Given the description of an element on the screen output the (x, y) to click on. 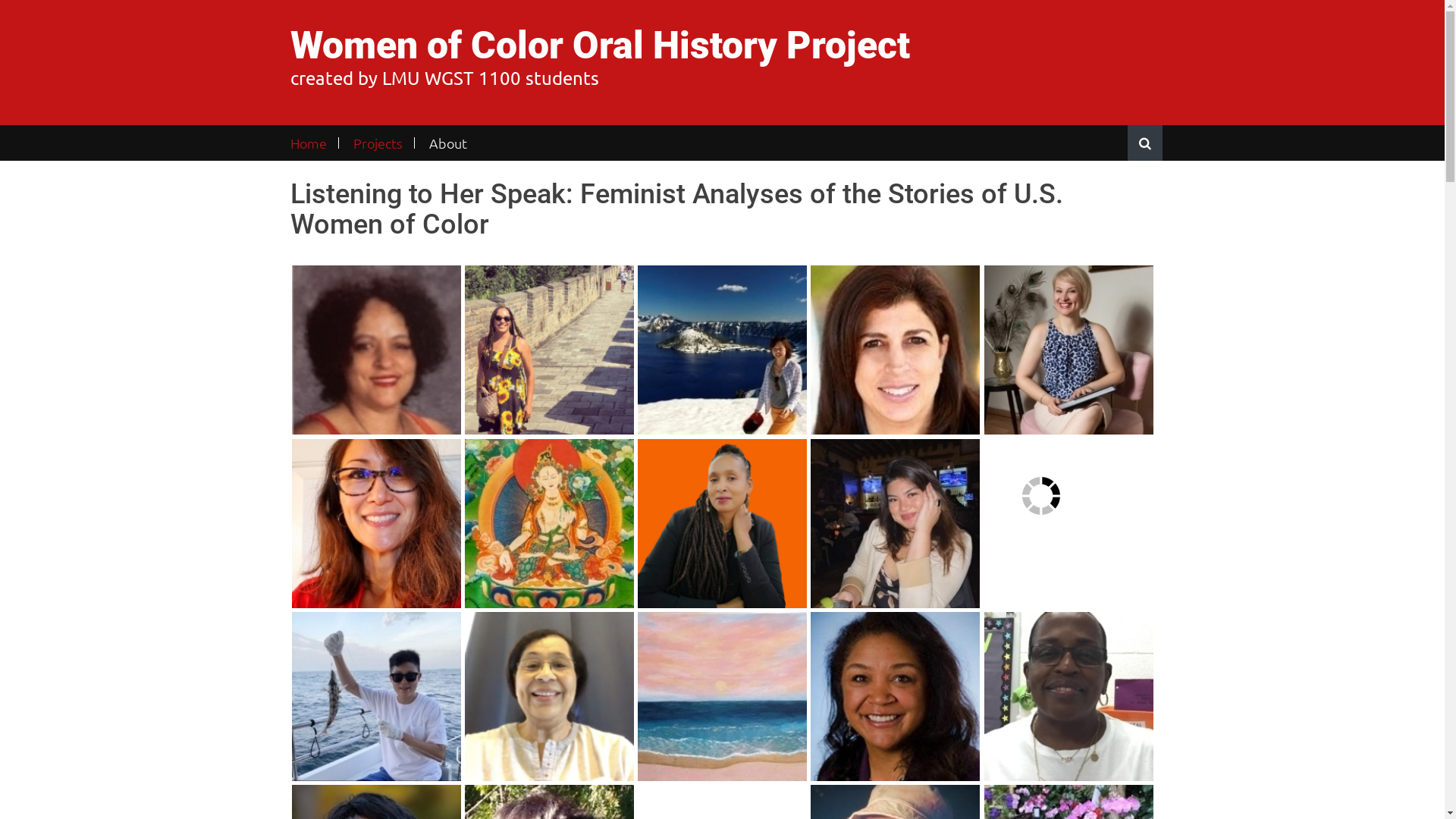
Emily&#039;s Interview with Izzy Element type: hover (894, 523)
About Element type: text (447, 142)
Paige&#039;s Interview with Karen Element type: hover (548, 523)
Projects Element type: text (377, 142)
Devon&#039;s Interview with Natalie Elizabeth Element type: hover (548, 349)
Nathan&#039;s Interview with Kerri Element type: hover (548, 696)
Maddie&#039;s Interview with Erica Thomson Element type: hover (375, 349)
Home Element type: text (313, 142)
Adelle&#039;s Interview with Jojo  Element type: hover (375, 696)
Aker's Interview with Ayoum Element type: hover (1041, 495)
Julia&#039;s Interview with Dr. Nadia Kim Element type: hover (375, 523)
Ryan&#039;s Interview with Sahana  Element type: hover (721, 696)
Women of Color Oral History Project Element type: text (599, 45)
11 Element type: hover (721, 523)
Naz&#039; Interview with Lily Lale Yilmaz Element type: hover (1068, 349)
Marisa&#039;s Interview with Gina Gregory Burns Element type: hover (894, 696)
Ethan&#039;s Interview with Li Juan Element type: hover (721, 349)
Alexa&#039;s Interview with Micheline Element type: hover (894, 349)
